Given the description of an element on the screen output the (x, y) to click on. 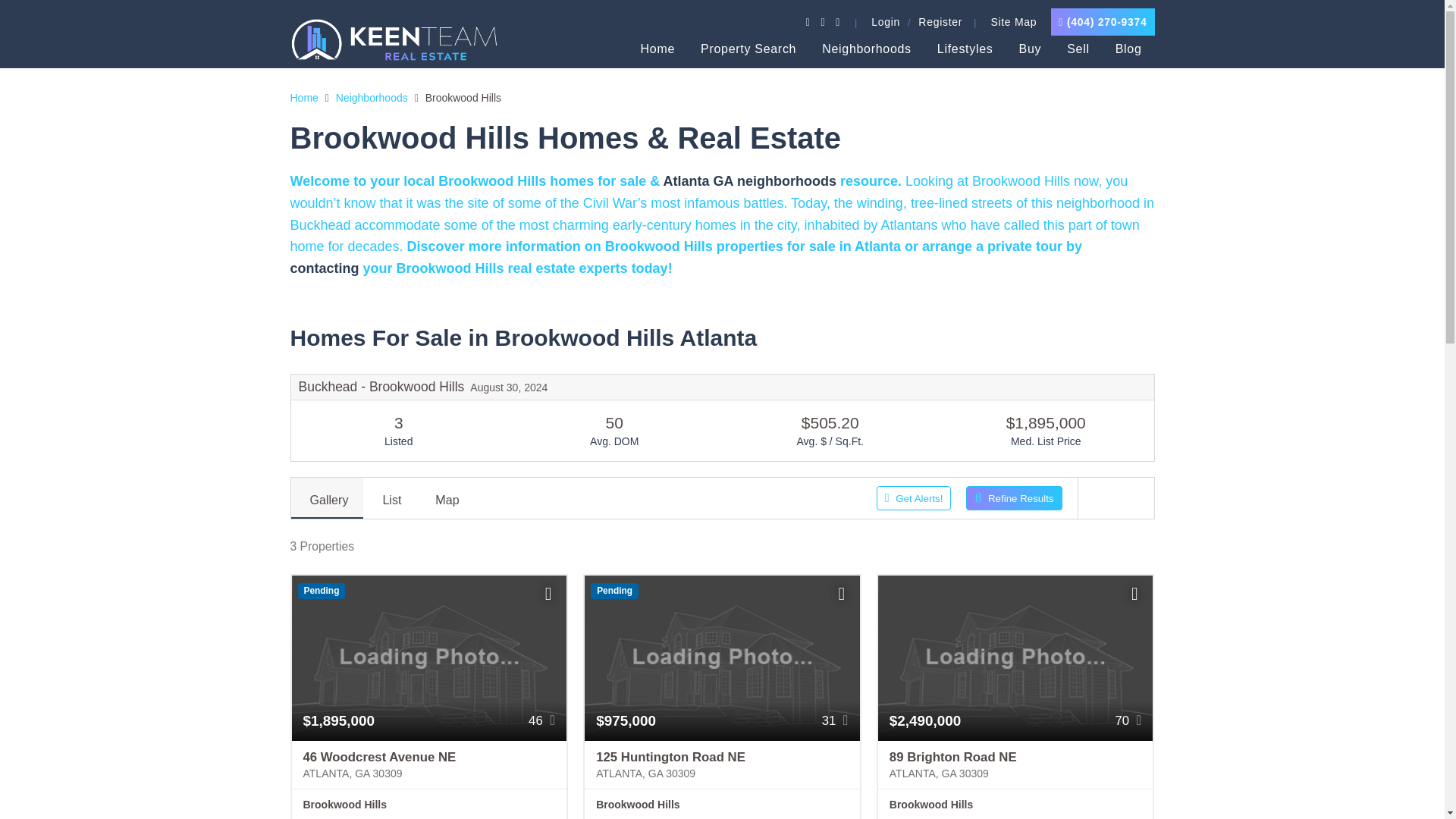
Neighborhoods (866, 48)
125 Huntington Road NE Atlanta,  GA 30309 (722, 765)
46 Woodcrest Avenue NE Atlanta,  GA 30309 (428, 765)
Home (657, 48)
Property Search (748, 48)
89 Brighton Road NE Atlanta,  GA 30309 (1015, 765)
Register (940, 21)
Site Map (1013, 21)
